Given the description of an element on the screen output the (x, y) to click on. 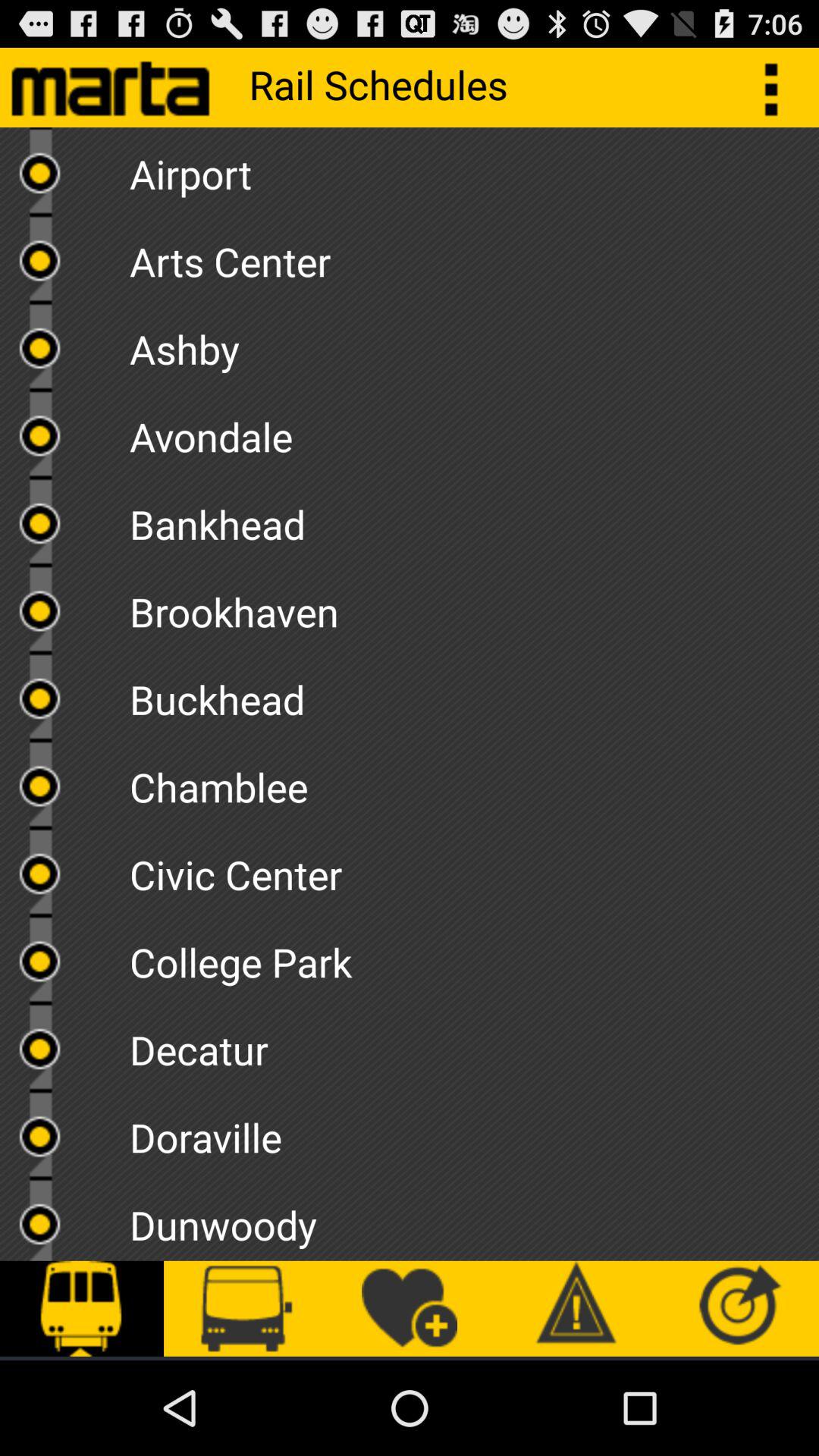
press the app above the airport (779, 87)
